Given the description of an element on the screen output the (x, y) to click on. 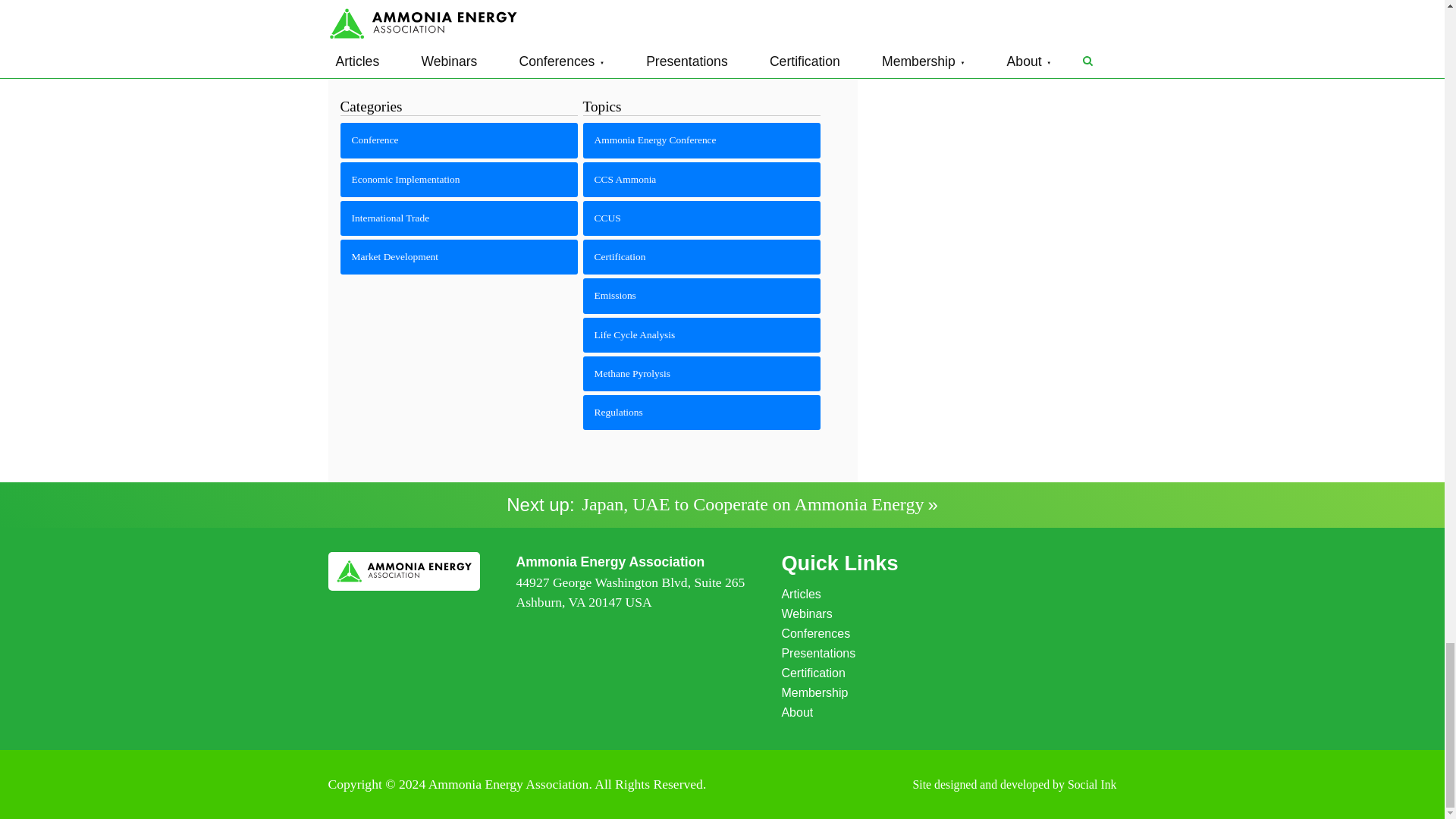
See other items in International Trade Categories (457, 217)
See other items in Market Development Categories (457, 256)
See other items in Economic Implementation Categories (457, 179)
See other items in Life Cycle Analysis Topics (702, 334)
See other items in CCUS Topics (702, 217)
See other items in Ammonia Energy Conference Topics (702, 140)
See other items in Certification Topics (702, 256)
See other items in CCS Ammonia Topics (702, 179)
See other items in Conference Categories (457, 140)
See other items in Regulations Topics (702, 411)
